Given the description of an element on the screen output the (x, y) to click on. 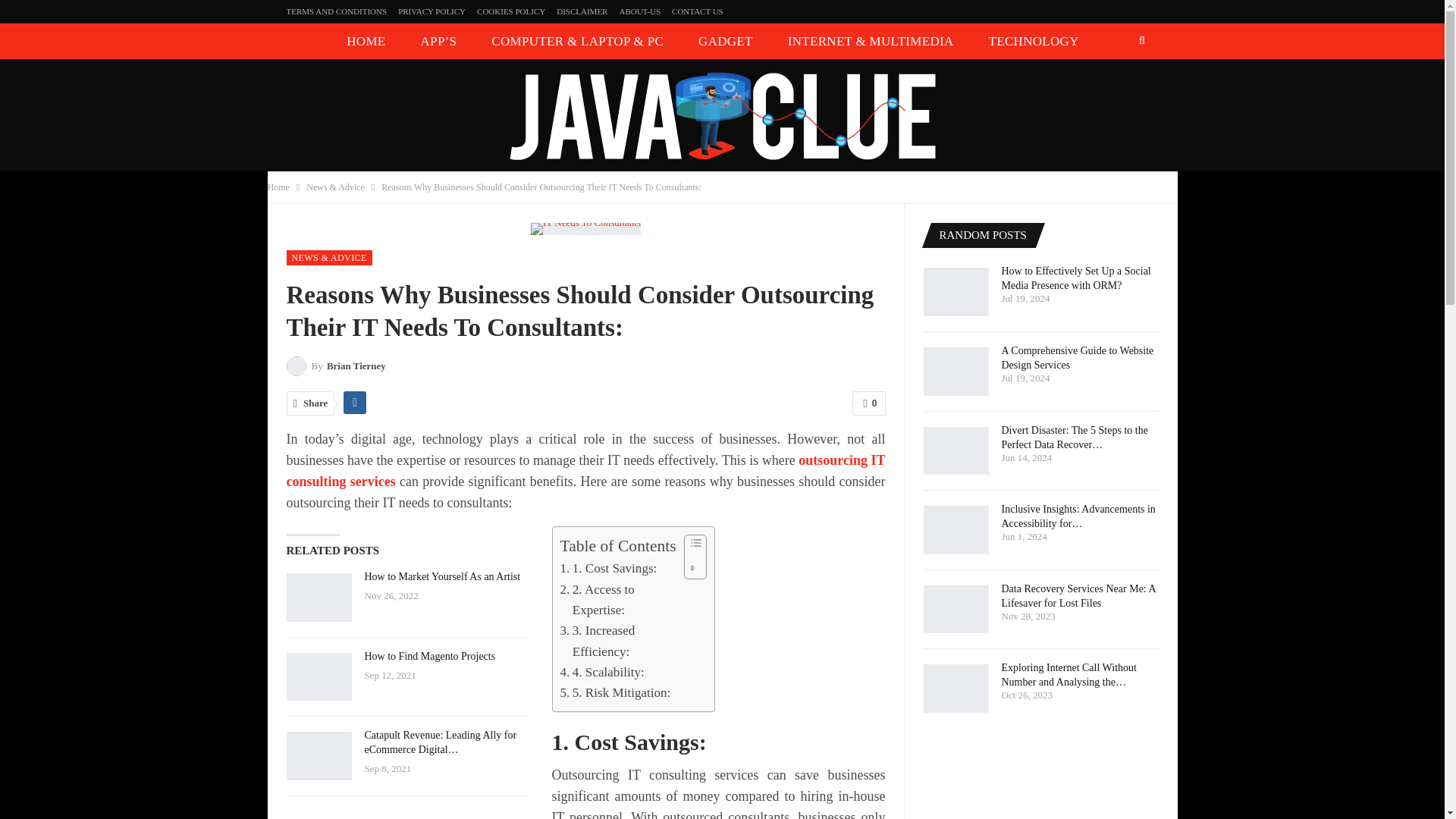
DISCLAIMER (581, 10)
How to Market Yourself As an Artist (441, 576)
1. Cost Savings: (607, 567)
3. Increased Efficiency: (617, 640)
4. Scalability: (601, 671)
How to Find Magento Projects (429, 655)
HOME (366, 41)
TECHNOLOGY (1033, 41)
By Brian Tierney (335, 365)
How to Find Magento Projects (319, 676)
2. Access to Expertise: (617, 599)
3. Increased Efficiency: (617, 640)
COOKIES POLICY (510, 10)
0 (868, 403)
